Given the description of an element on the screen output the (x, y) to click on. 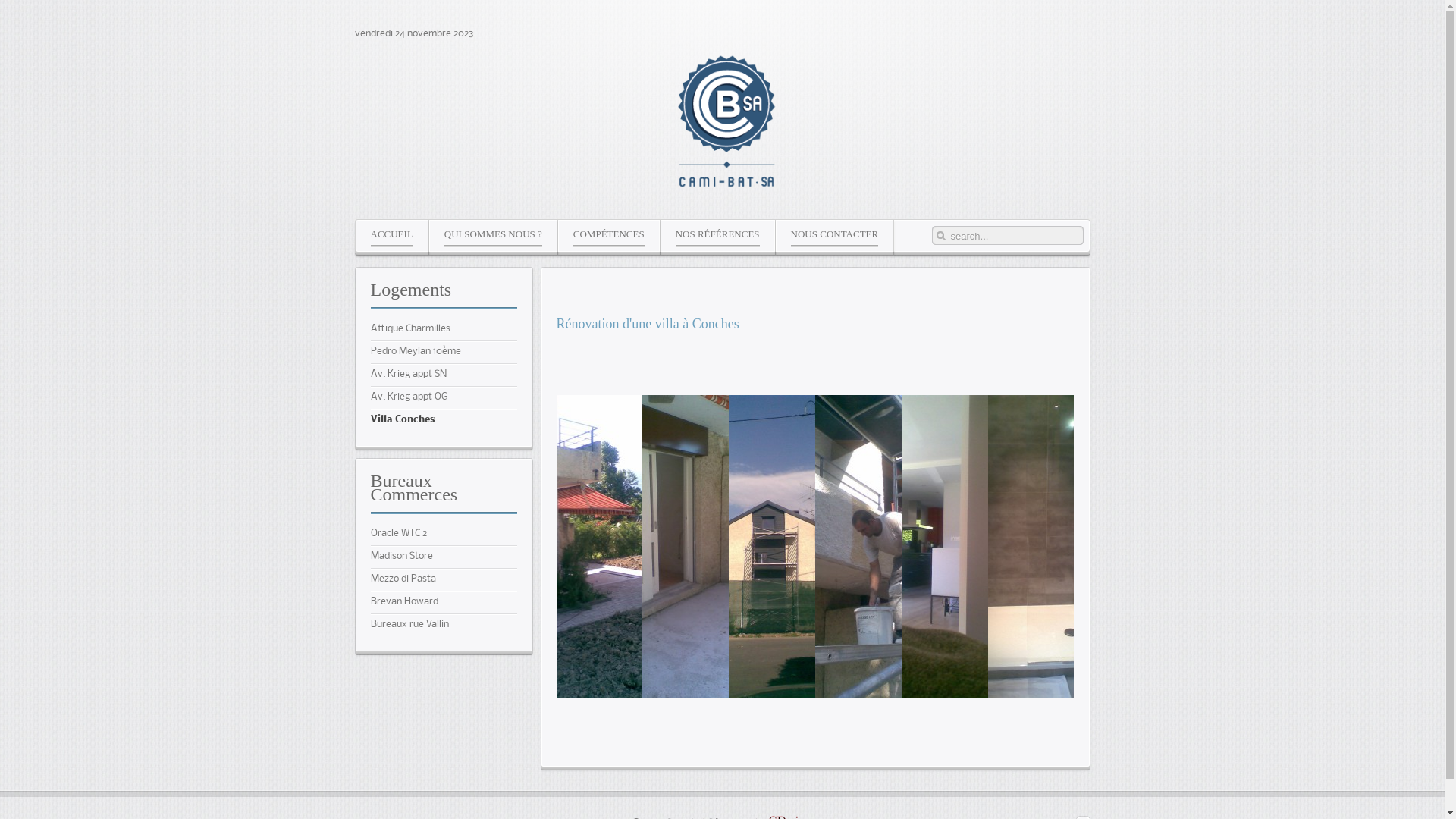
Attique Charmilles Element type: text (443, 328)
Oracle WTC 2 Element type: text (443, 533)
Logo Element type: hover (725, 121)
ACCUEIL Element type: text (391, 235)
Brevan Howard Element type: text (443, 601)
Av. Krieg appt OG Element type: text (443, 396)
Av. Krieg appt SN Element type: text (443, 374)
Madison Store Element type: text (443, 556)
Bureaux rue Vallin Element type: text (443, 624)
QUI SOMMES NOUS ? Element type: text (493, 235)
Villa Conches Element type: text (443, 419)
NOUS CONTACTER Element type: text (834, 235)
Reset Element type: text (3, 3)
Mezzo di Pasta Element type: text (443, 578)
    Element type: text (726, 124)
